Given the description of an element on the screen output the (x, y) to click on. 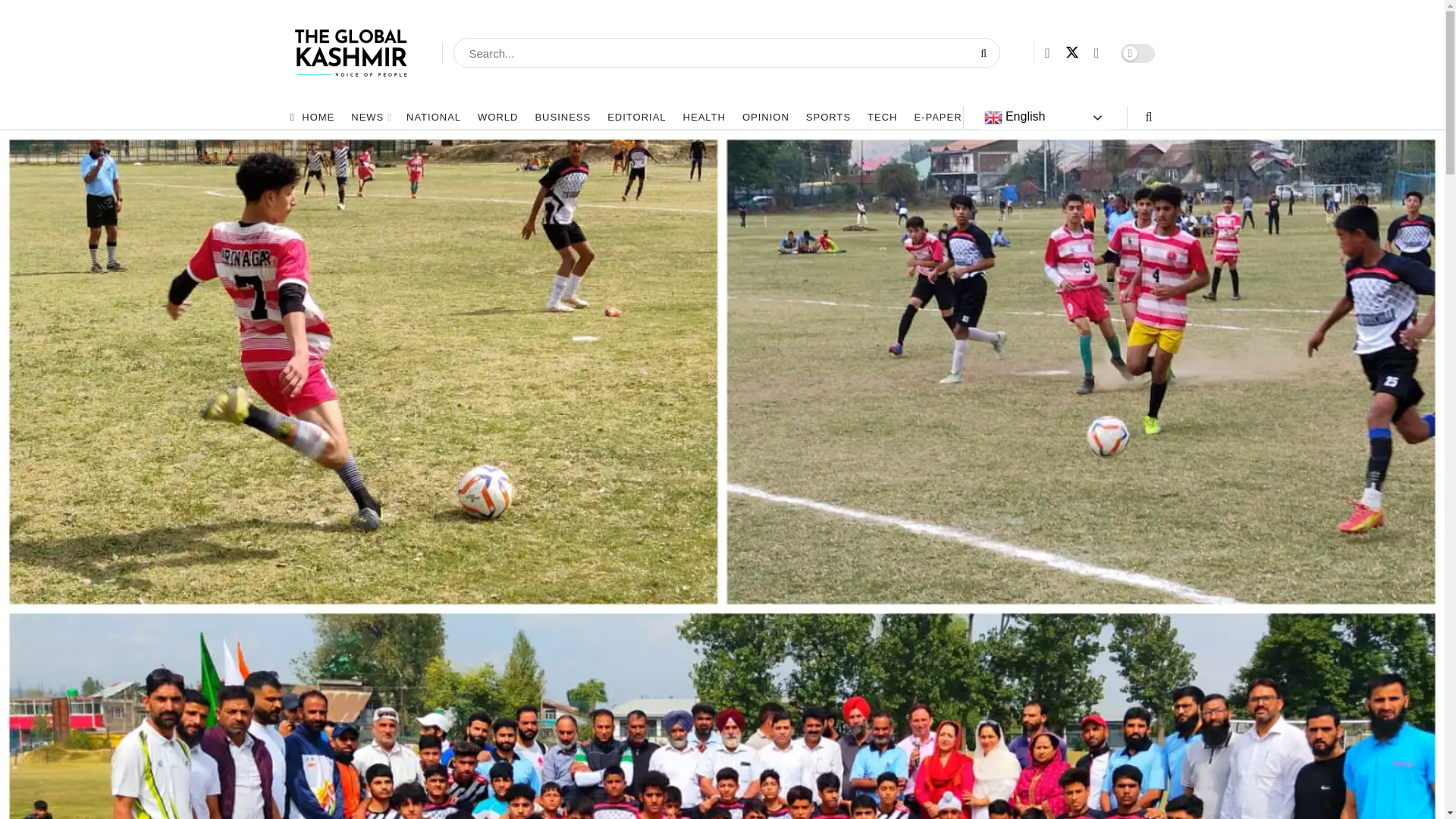
NEWS (370, 117)
OPINION (765, 117)
SPORTS (828, 117)
EDITORIAL (636, 117)
NATIONAL (433, 117)
WORLD (497, 117)
HOME (311, 117)
BUSINESS (562, 117)
HEALTH (703, 117)
English (1044, 117)
E-PAPER (937, 117)
TECH (881, 117)
